Given the description of an element on the screen output the (x, y) to click on. 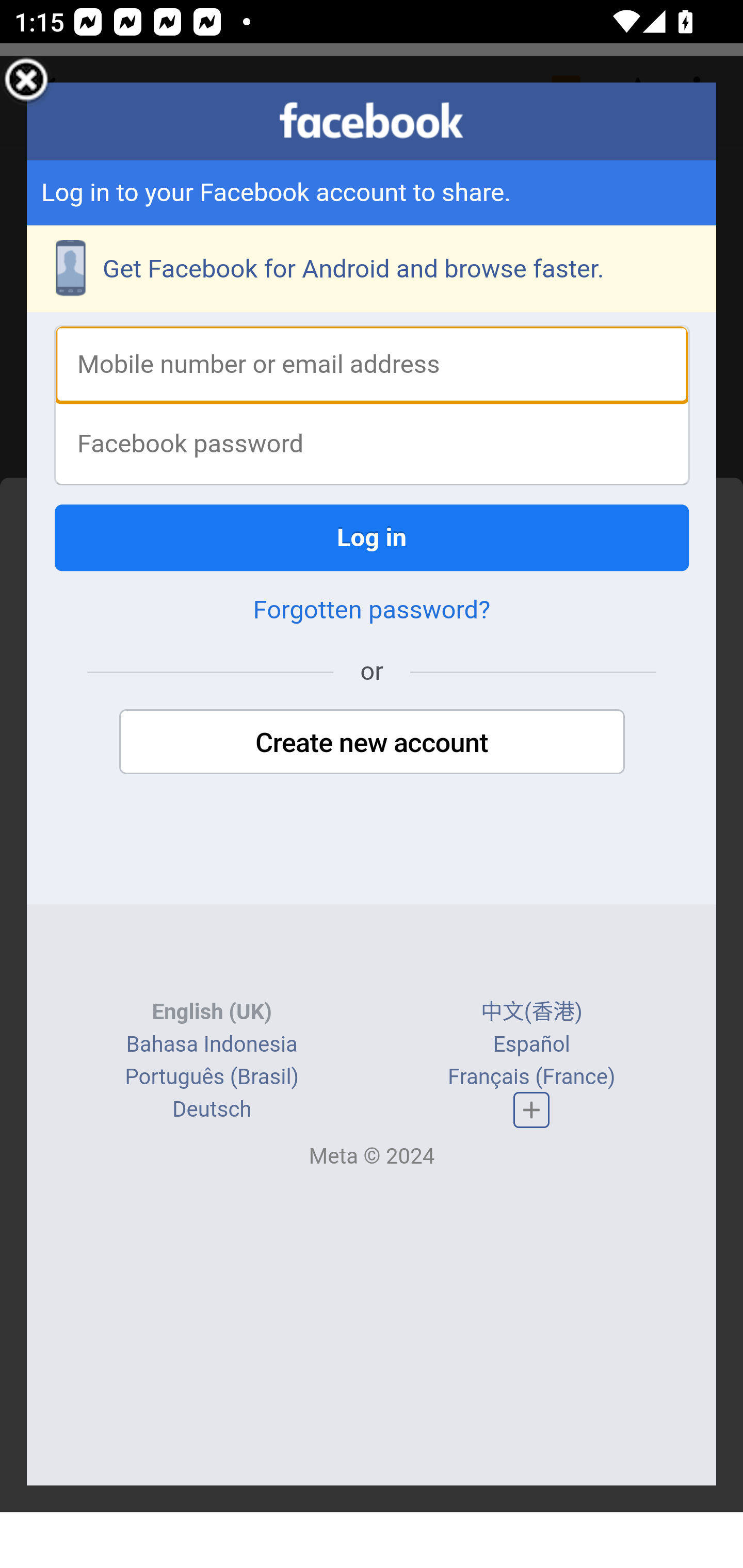
facebook (372, 121)
Get Facebook for Android and browse faster. (372, 270)
Log in (372, 538)
Forgotten password? (371, 611)
Create new account (371, 743)
中文(香港) (531, 1013)
Bahasa Indonesia (210, 1044)
Español (530, 1044)
Português (Brasil) (211, 1077)
Français (France) (530, 1077)
Complete list of languages (531, 1110)
Deutsch (211, 1110)
